Given the description of an element on the screen output the (x, y) to click on. 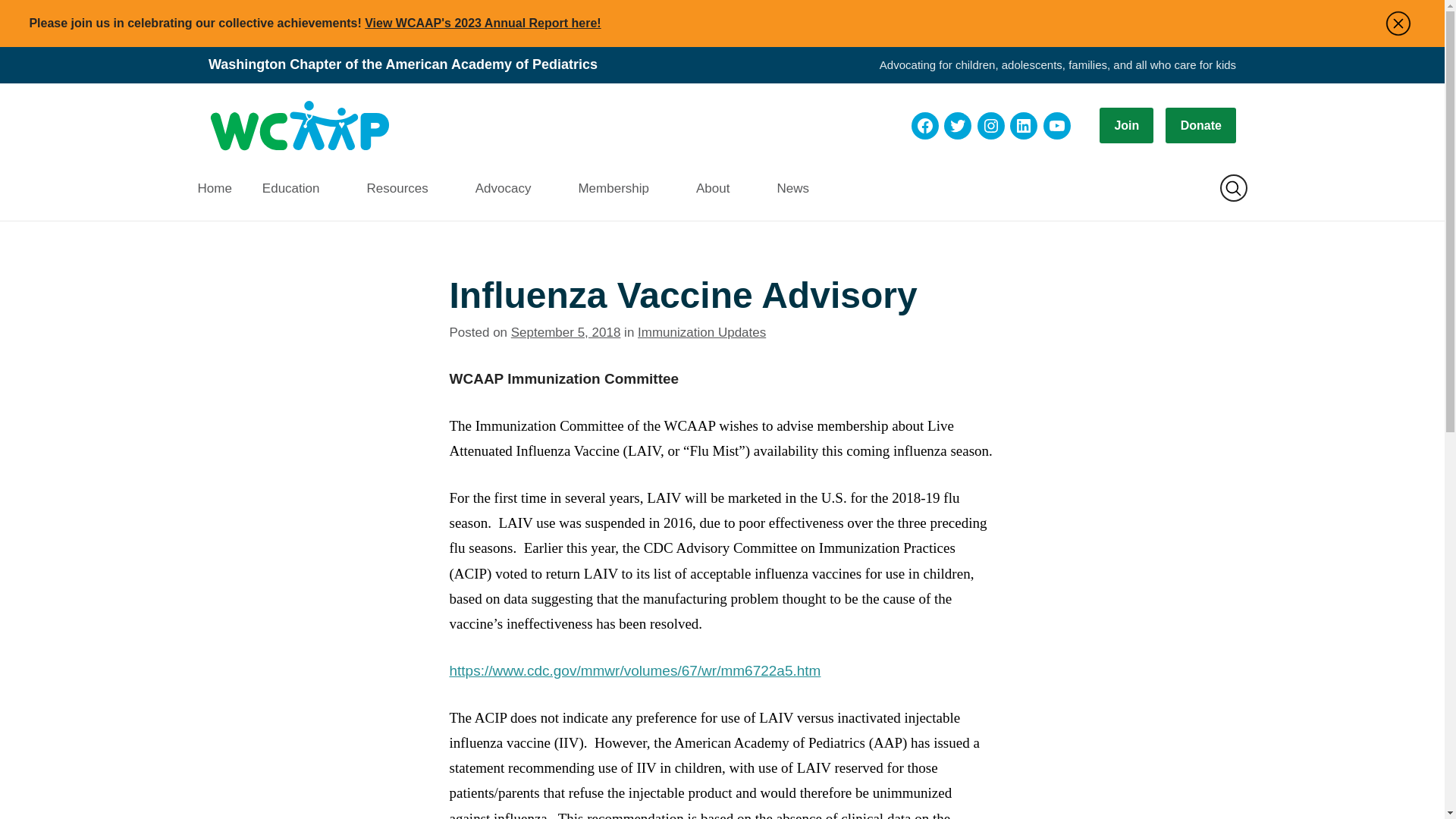
Resources (405, 188)
Donate (1201, 125)
Membership (621, 188)
WCAAP Home (299, 125)
View WCAAP's 2023 Annual Report here! (482, 22)
Advocacy (511, 188)
Close Banner Message (1397, 22)
Education (299, 188)
Home (221, 188)
Join (1126, 125)
